Given the description of an element on the screen output the (x, y) to click on. 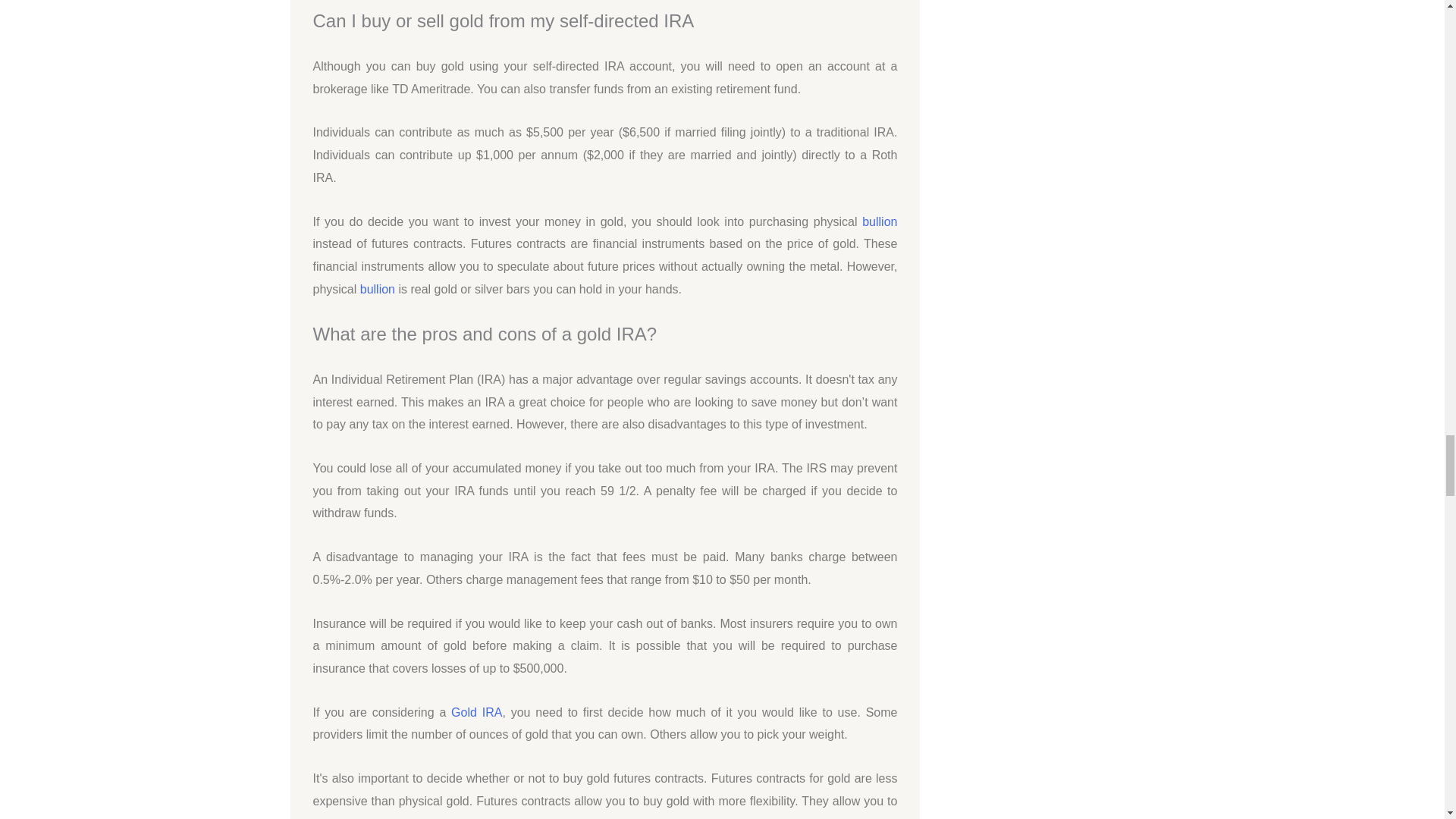
bullion (878, 221)
bullion (376, 288)
Gold IRA (476, 712)
